Given the description of an element on the screen output the (x, y) to click on. 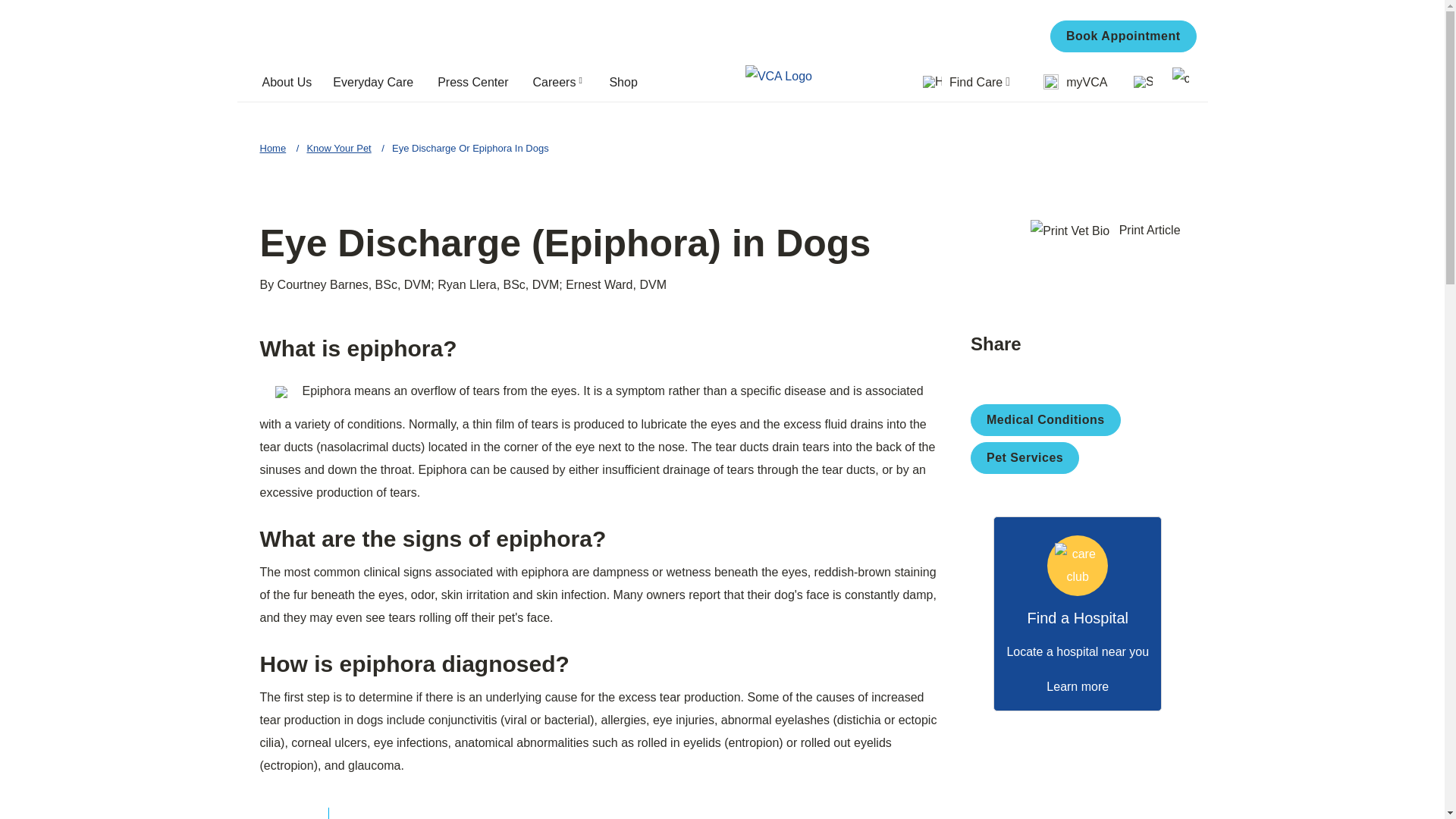
Press Center (477, 82)
Careers (565, 82)
Shop (628, 82)
Everyday Care (378, 82)
About Us (291, 82)
